Given the description of an element on the screen output the (x, y) to click on. 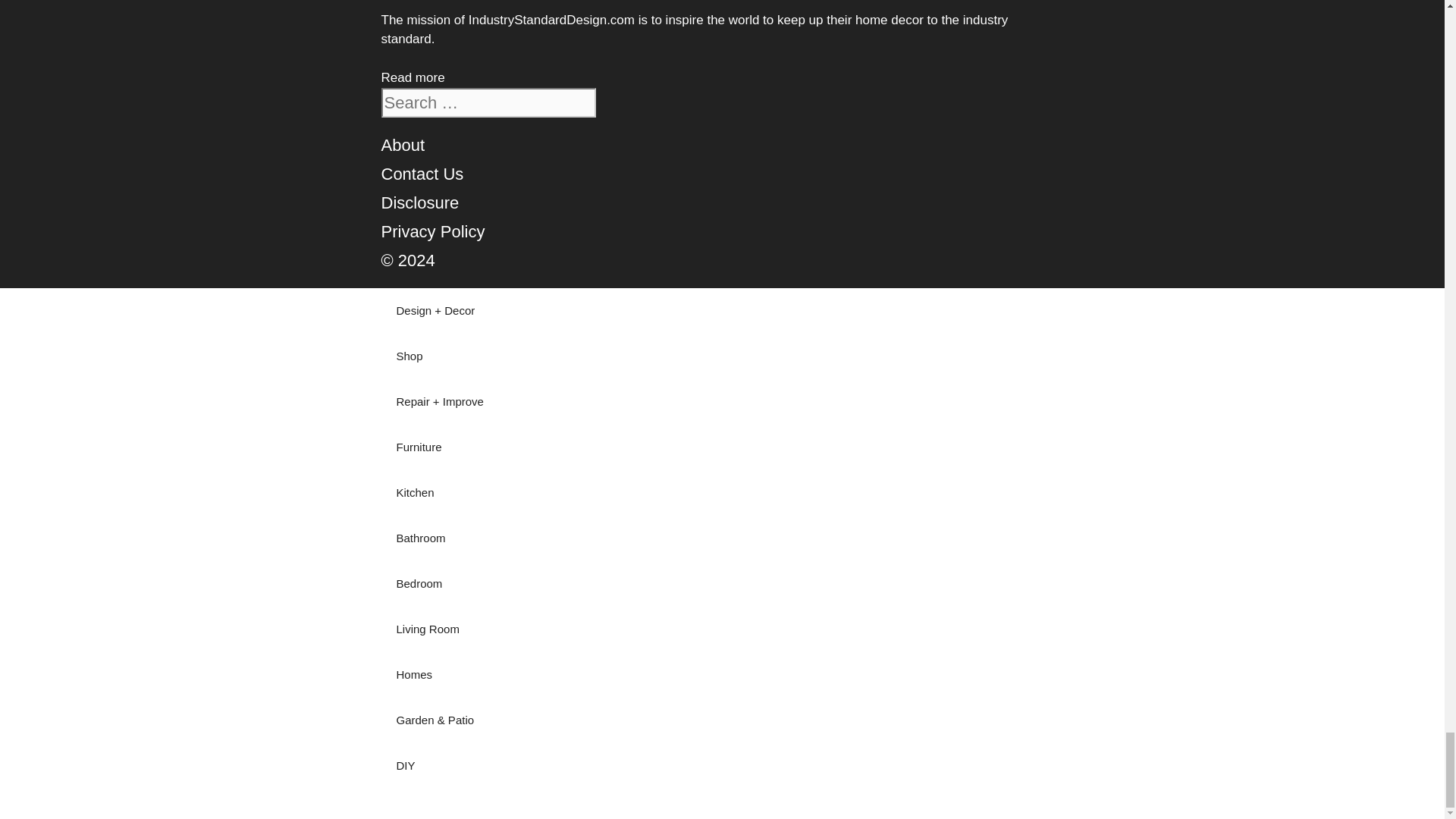
Read more (412, 77)
About (402, 144)
Search for: (487, 102)
Contact Us (421, 173)
